Given the description of an element on the screen output the (x, y) to click on. 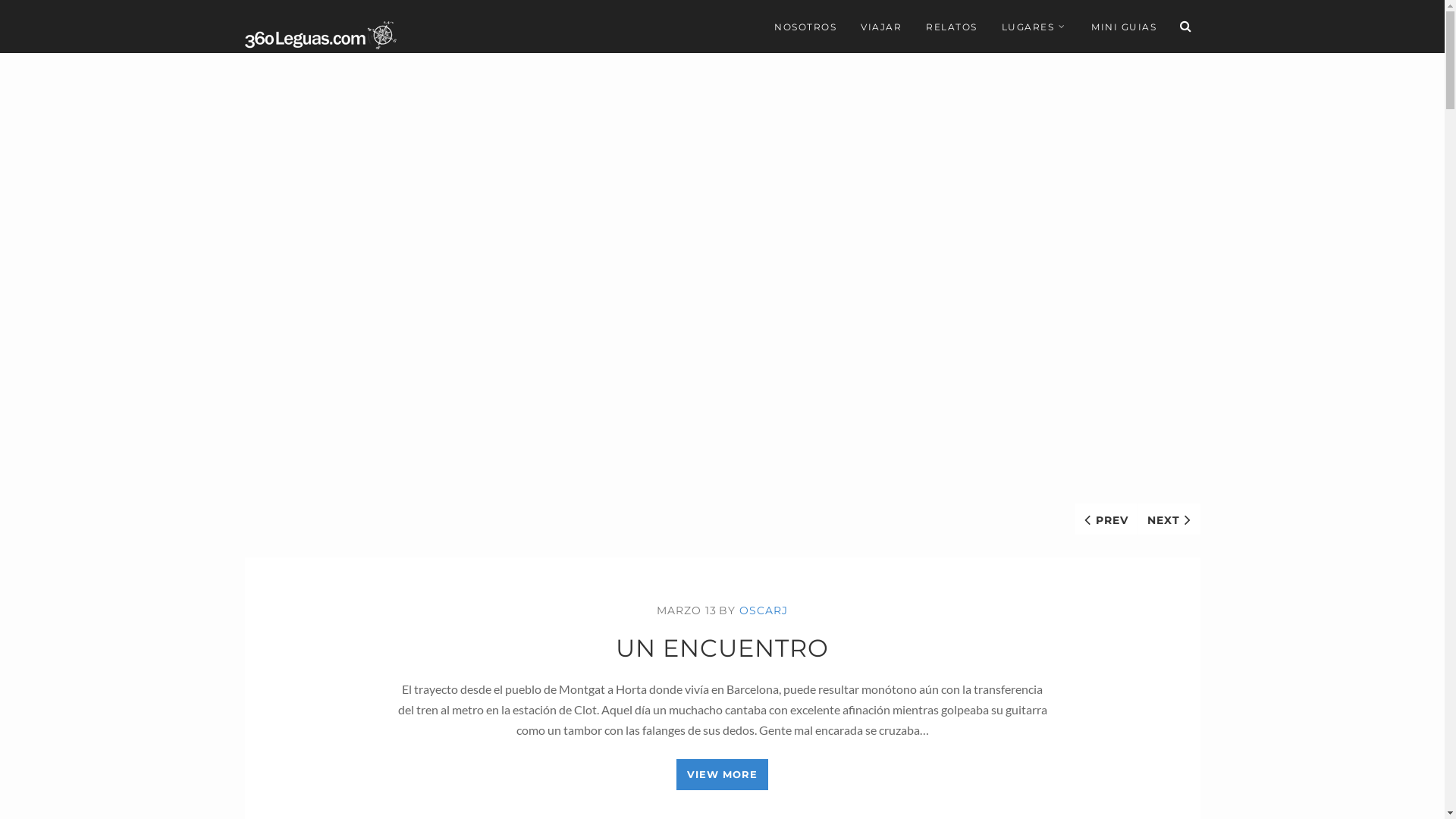
LUGARES Element type: text (1034, 26)
VIAJAR Element type: text (881, 26)
NOSOTROS Element type: text (804, 26)
UN ENCUENTRO Element type: text (721, 647)
MARZO 13 Element type: text (686, 610)
RELATOS Element type: text (951, 26)
OSCARJ Element type: text (763, 610)
VIEW MORE Element type: text (722, 774)
NEXT Element type: text (1168, 518)
MINI GUIAS Element type: text (1123, 26)
PREV Element type: text (1106, 518)
